Given the description of an element on the screen output the (x, y) to click on. 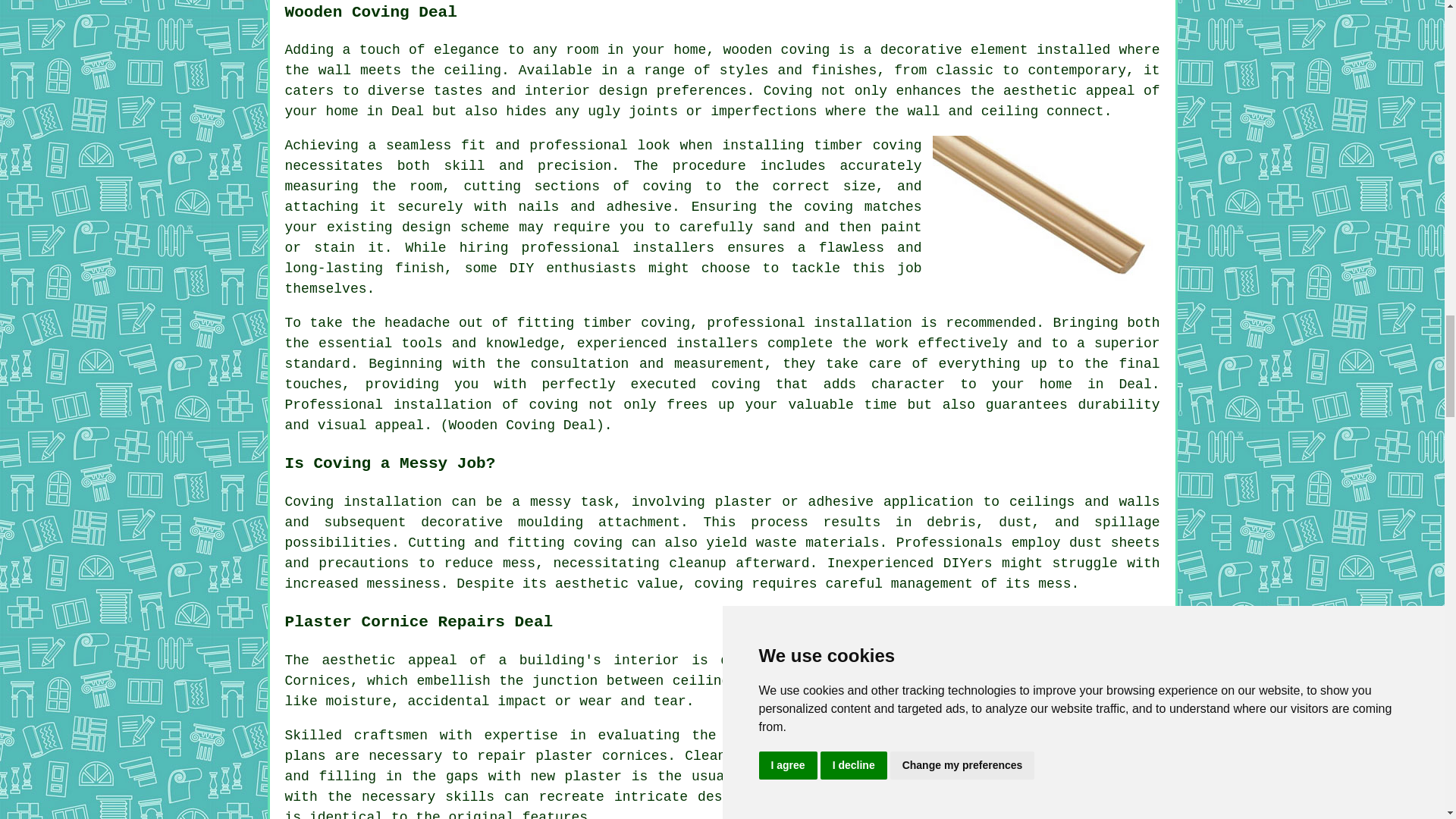
Coving installation (363, 501)
wooden coving (775, 49)
coving (665, 322)
Wooden Coving Deal (1046, 210)
